Given the description of an element on the screen output the (x, y) to click on. 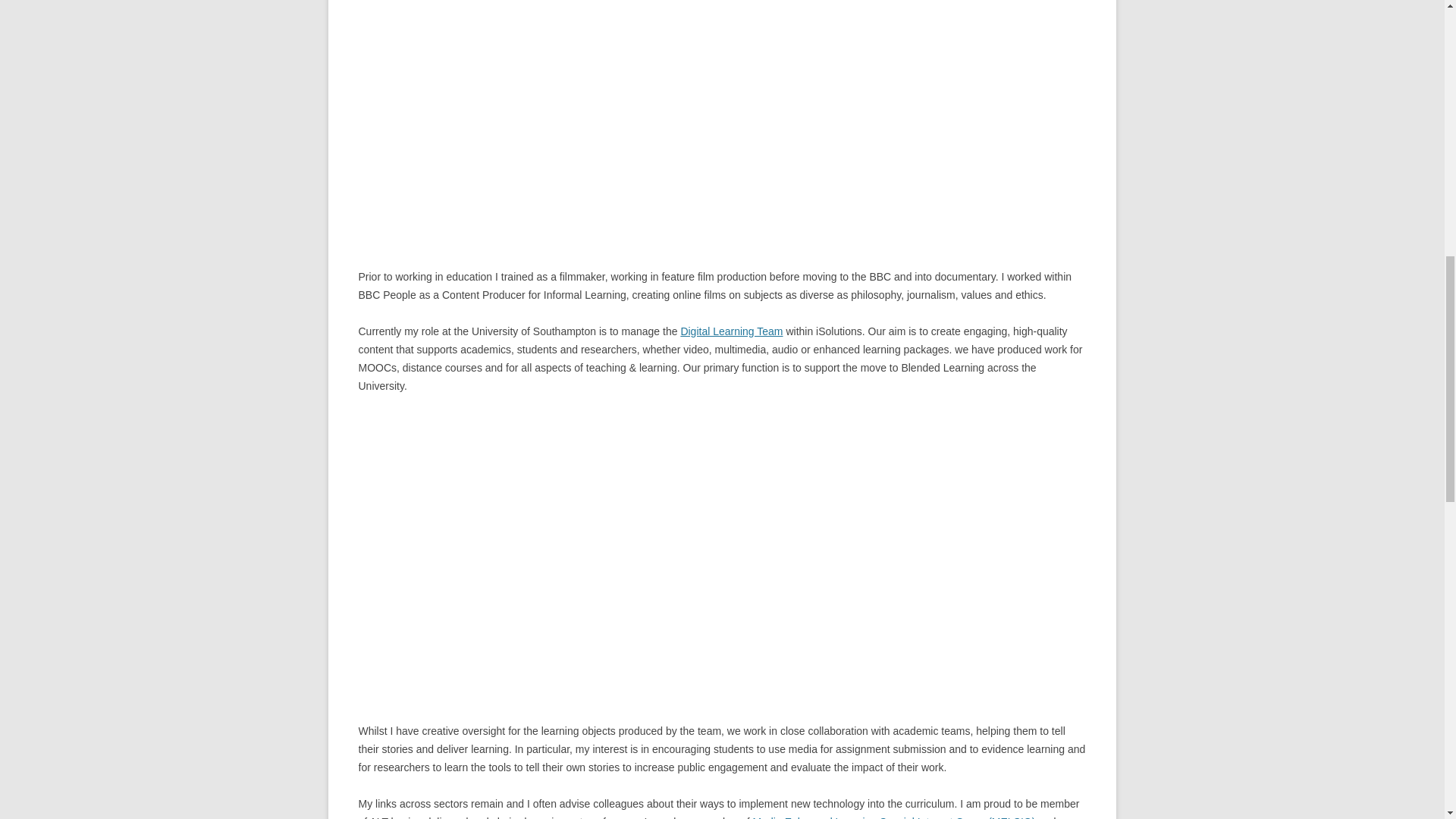
Media Production Showreel - ILIaD Media (594, 546)
Byte fair Fareham College Head of Media Stephan Casper (594, 113)
Digital Learning Team (731, 331)
